Given the description of an element on the screen output the (x, y) to click on. 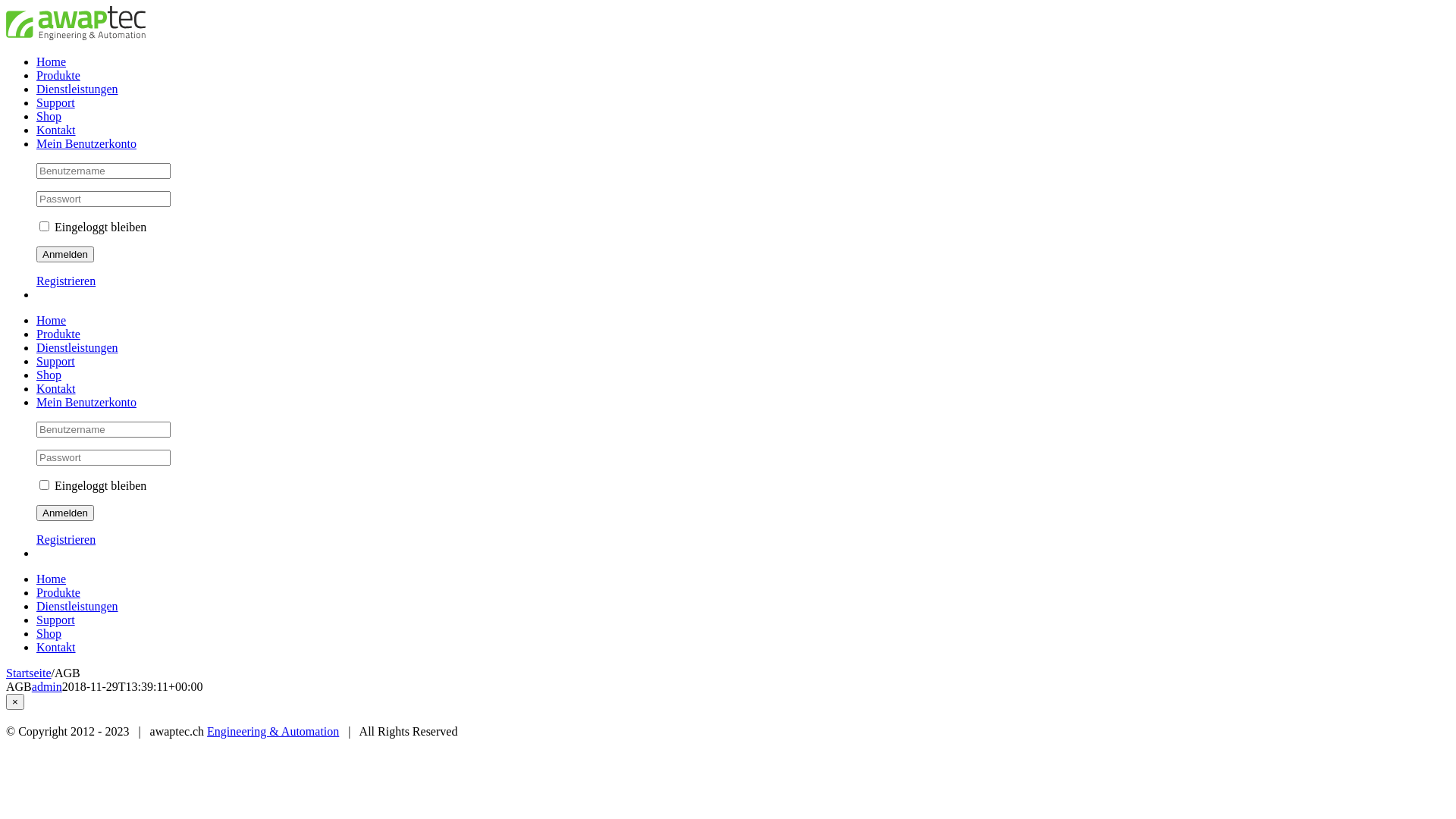
Home Element type: text (50, 578)
Shop Element type: text (48, 633)
Home Element type: text (50, 319)
Produkte Element type: text (58, 75)
Dienstleistungen Element type: text (77, 88)
Shop Element type: text (48, 115)
Produkte Element type: text (58, 333)
Produkte Element type: text (58, 592)
Support Element type: text (55, 360)
Dienstleistungen Element type: text (77, 605)
Kontakt Element type: text (55, 129)
Registrieren Element type: text (65, 539)
Mein Benutzerkonto Element type: text (86, 401)
Support Element type: text (55, 102)
Engineering & Automation Element type: text (272, 730)
admin Element type: text (46, 686)
Mein Benutzerkonto Element type: text (86, 143)
Kontakt Element type: text (55, 388)
Support Element type: text (55, 619)
Kontakt Element type: text (55, 646)
Registrieren Element type: text (65, 280)
Anmelden Element type: text (65, 512)
Anmelden Element type: text (65, 254)
Home Element type: text (50, 61)
Shop Element type: text (48, 374)
Startseite Element type: text (28, 672)
Dienstleistungen Element type: text (77, 347)
Skip to content Element type: text (5, 5)
